Given the description of an element on the screen output the (x, y) to click on. 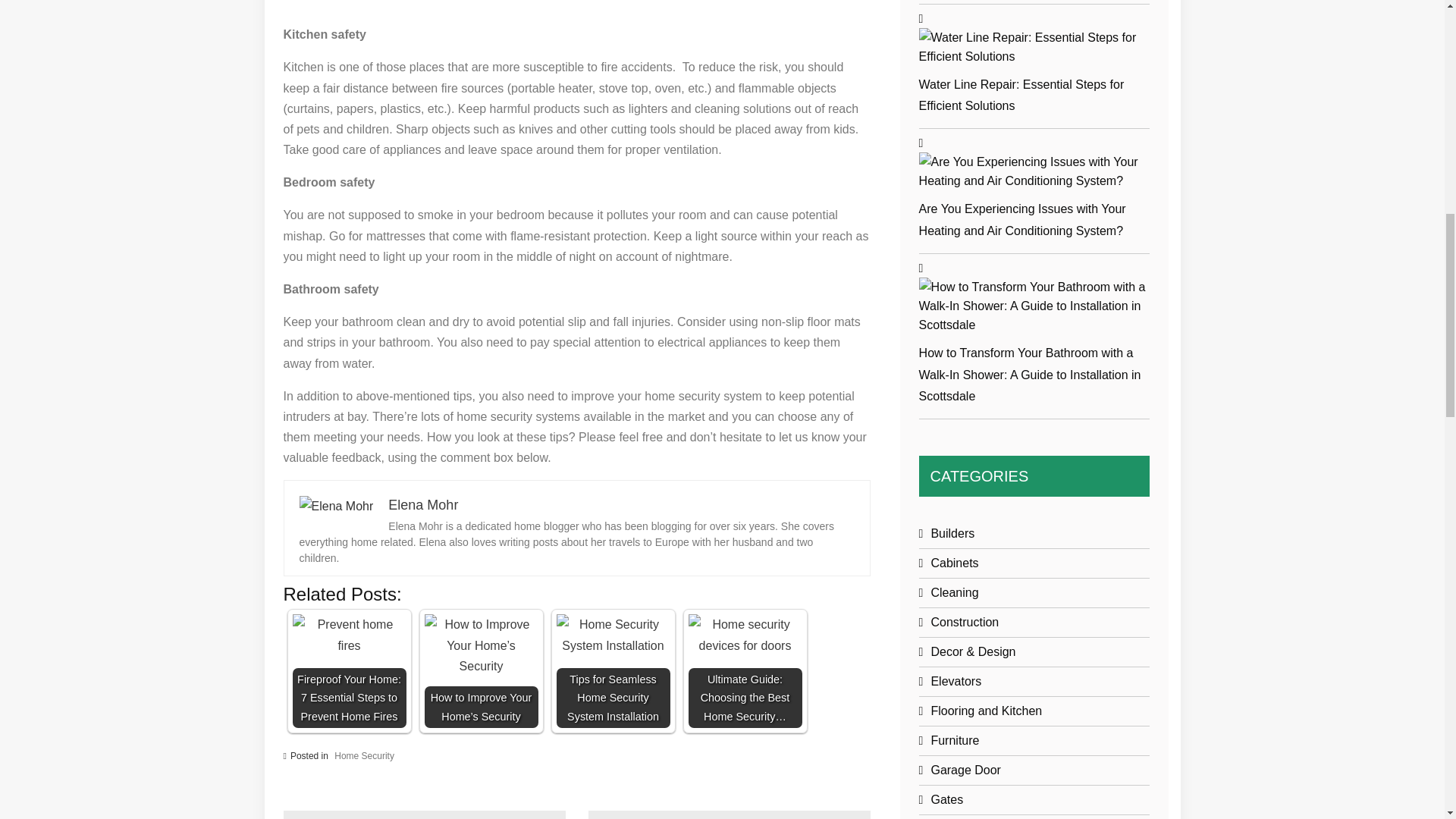
Elena Mohr (335, 506)
Fireproof Your Home: 7 Essential Steps to Prevent Home Fires (349, 634)
Tips for Seamless Home Security System Installation (612, 634)
